Given the description of an element on the screen output the (x, y) to click on. 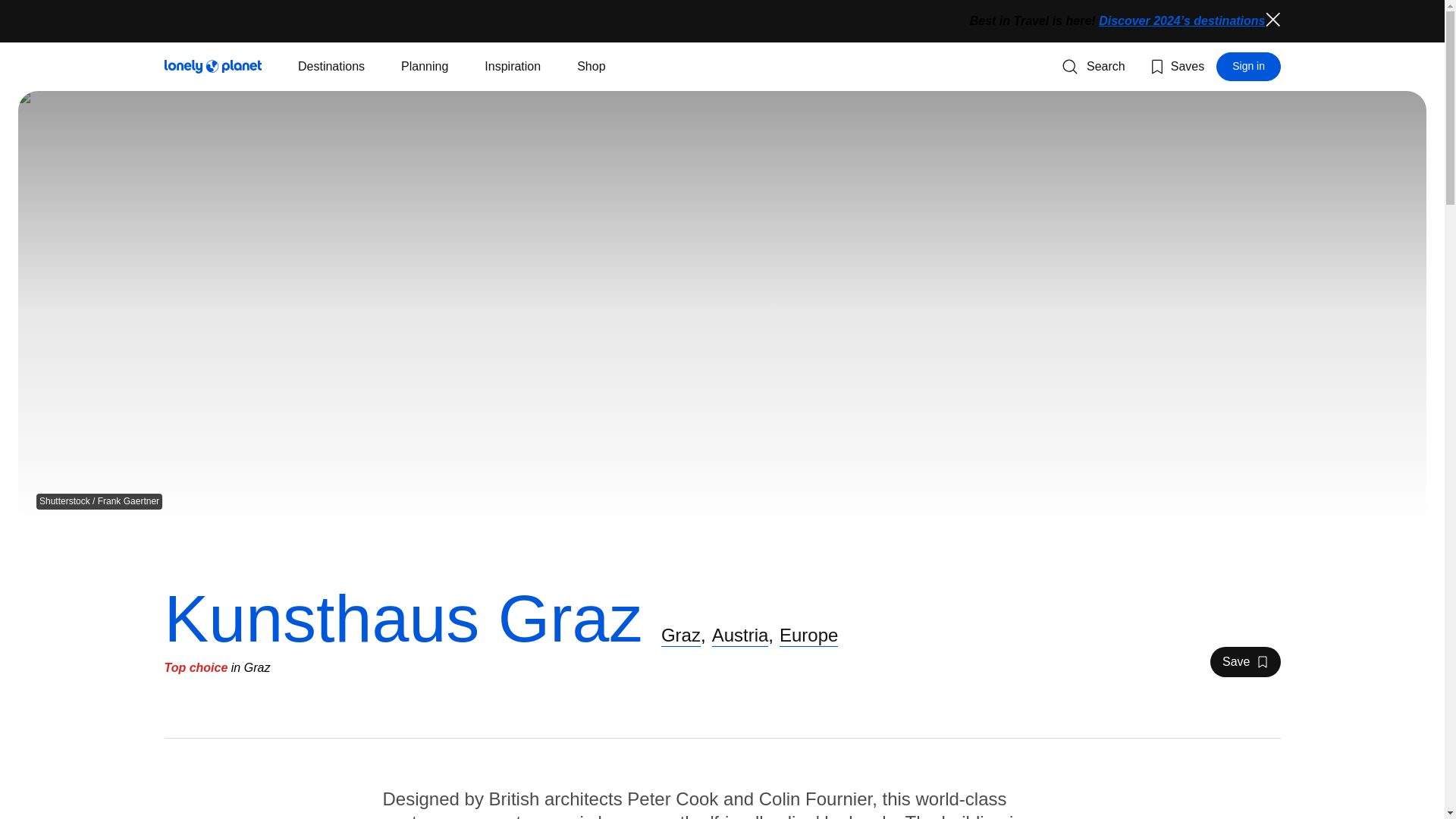
Saves (1244, 662)
Europe (1176, 66)
Planning (808, 635)
Inspiration (424, 66)
Close alert (512, 66)
Destinations (1272, 19)
Search (1248, 66)
Lonely Planet (330, 66)
Graz (1093, 66)
Austria (211, 66)
